Given the description of an element on the screen output the (x, y) to click on. 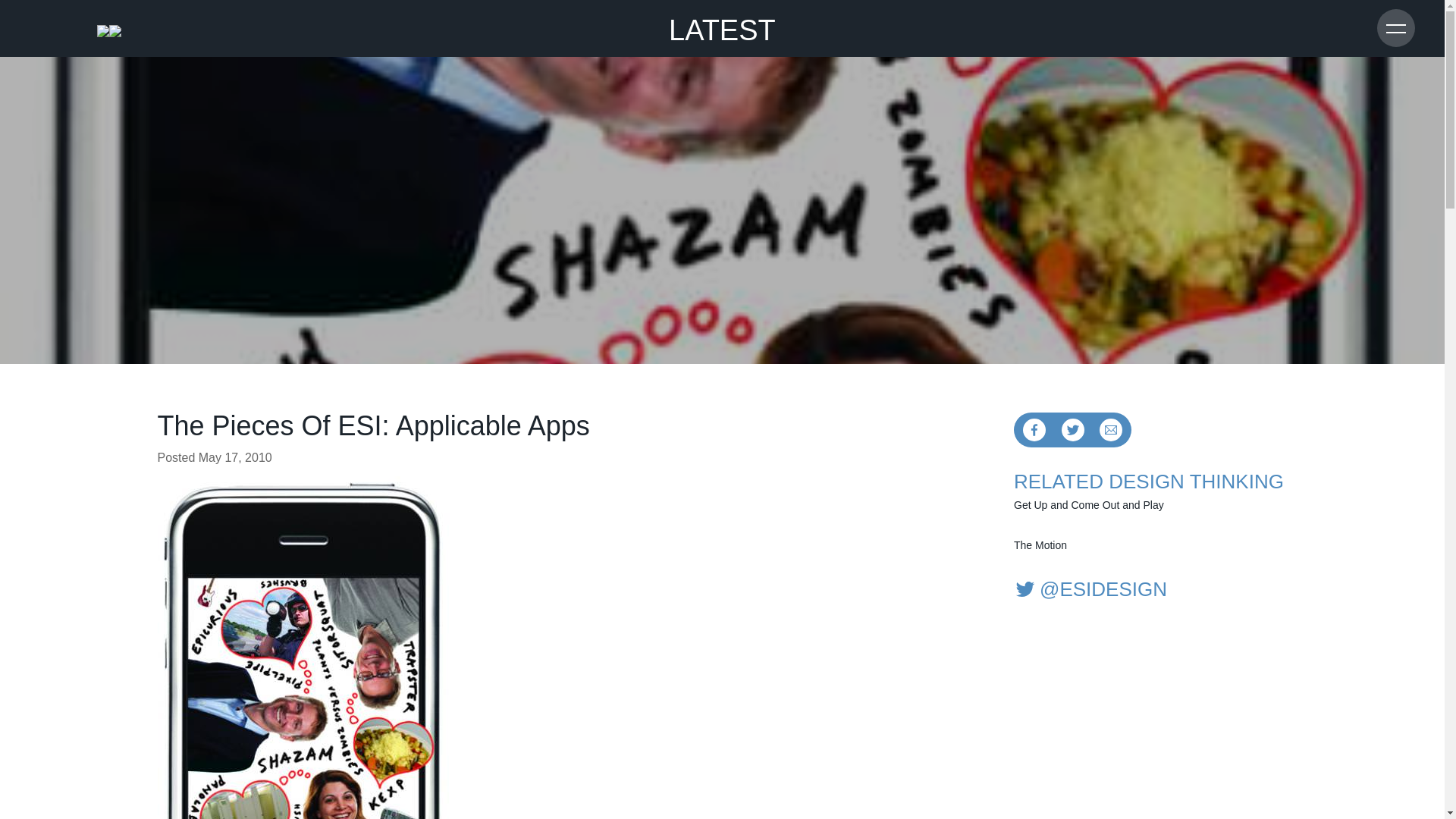
Get Up and Come Out and Play (1150, 505)
The Motion (1150, 545)
LATEST (722, 22)
